Given the description of an element on the screen output the (x, y) to click on. 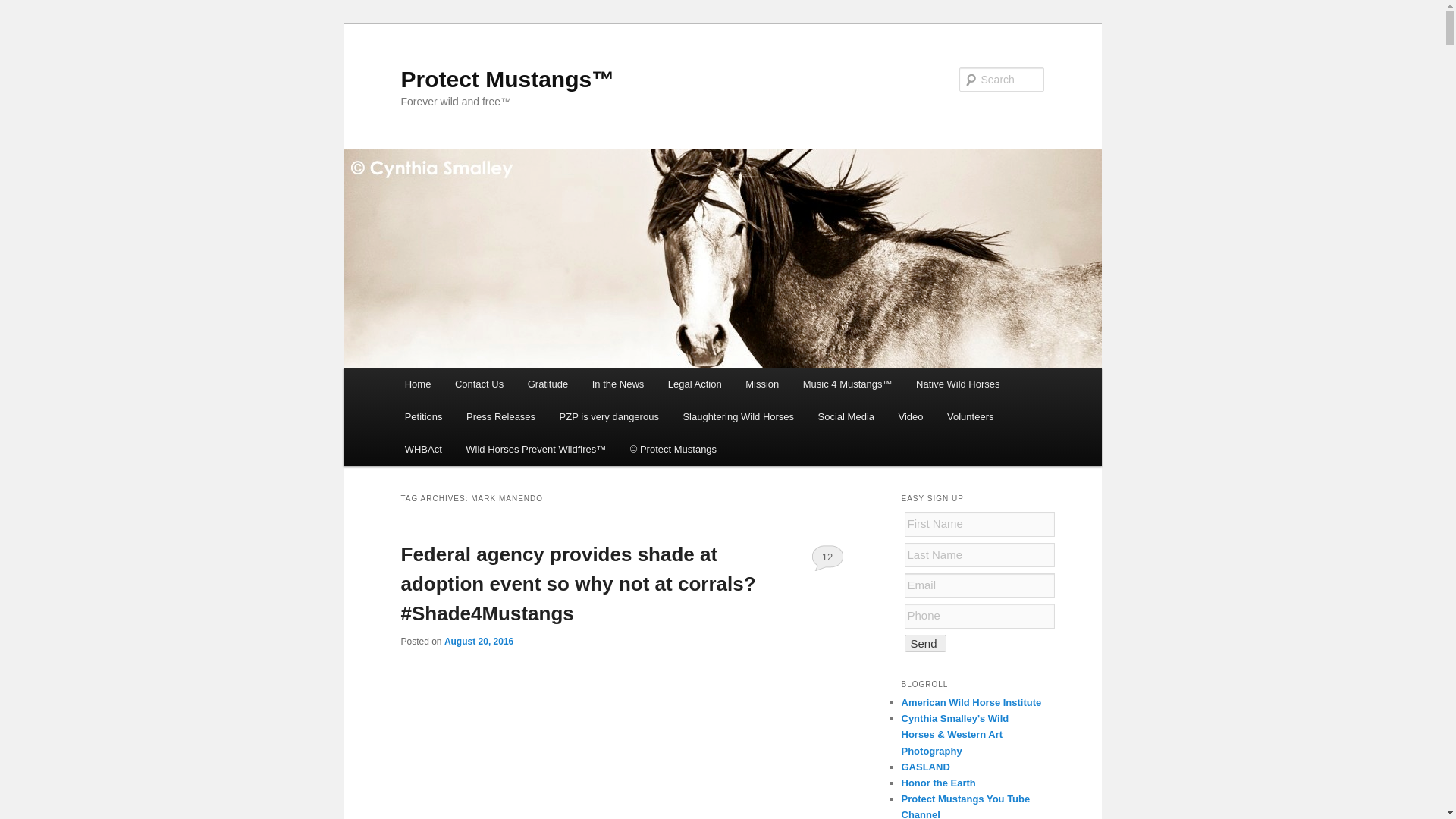
Search (24, 8)
Home (417, 383)
Contact Us (478, 383)
12 (827, 556)
Petitions (423, 416)
Slaughtering Wild Horses (738, 416)
WHBAct (423, 449)
PZP is very dangerous (609, 416)
August 20, 2016 (478, 641)
Legal Action (694, 383)
Social Media (846, 416)
Volunteers (970, 416)
Send  (924, 642)
Gratitude (547, 383)
